Given the description of an element on the screen output the (x, y) to click on. 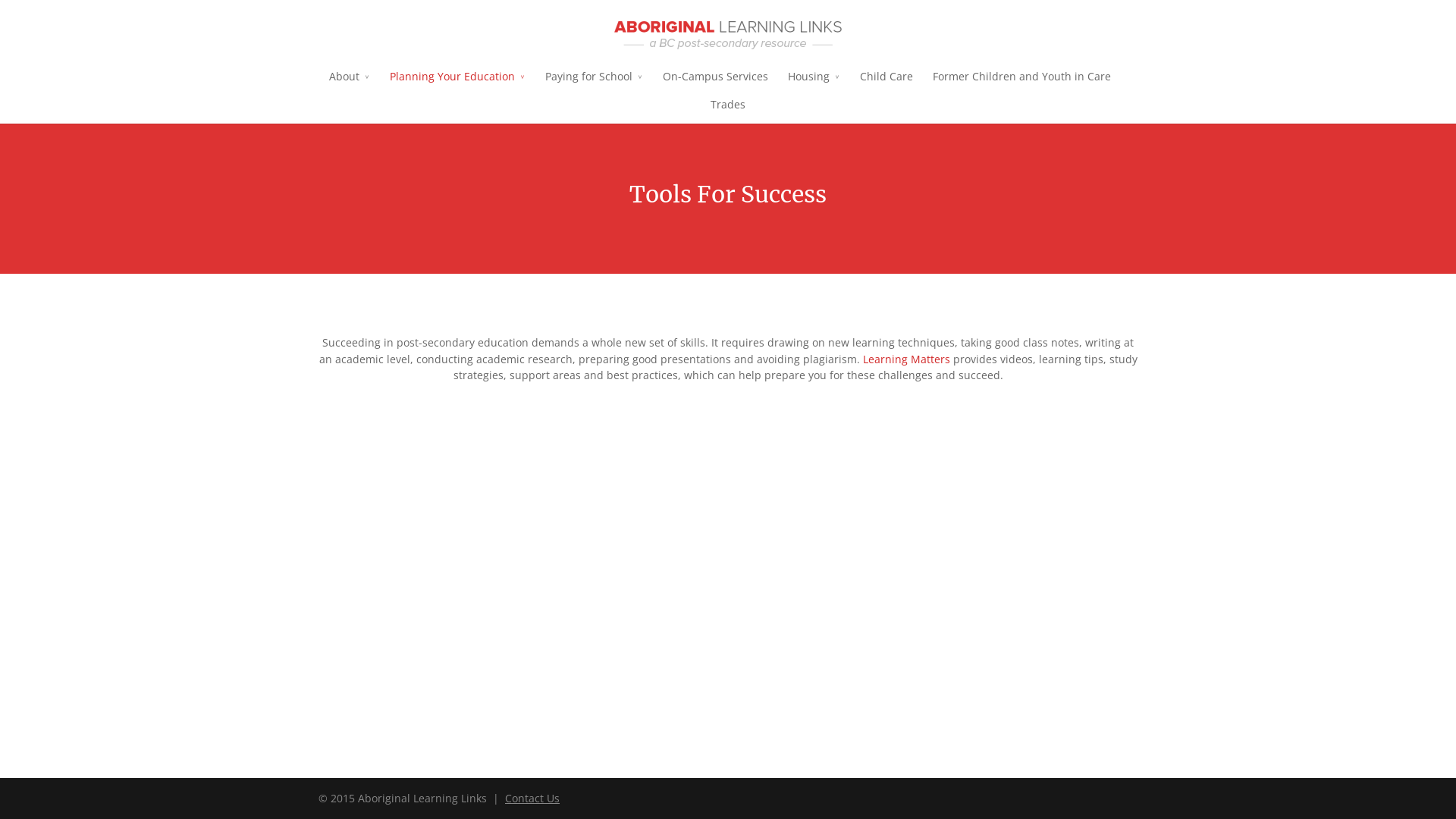
About Element type: text (349, 81)
Contact Us Element type: text (532, 797)
Paying for School Element type: text (593, 81)
Child Care Element type: text (886, 81)
Learning Matters Element type: text (906, 358)
Trades Element type: text (727, 109)
On-Campus Services Element type: text (715, 81)
Housing Element type: text (813, 81)
Former Children and Youth in Care Element type: text (1021, 81)
Planning Your Education Element type: text (457, 81)
